Given the description of an element on the screen output the (x, y) to click on. 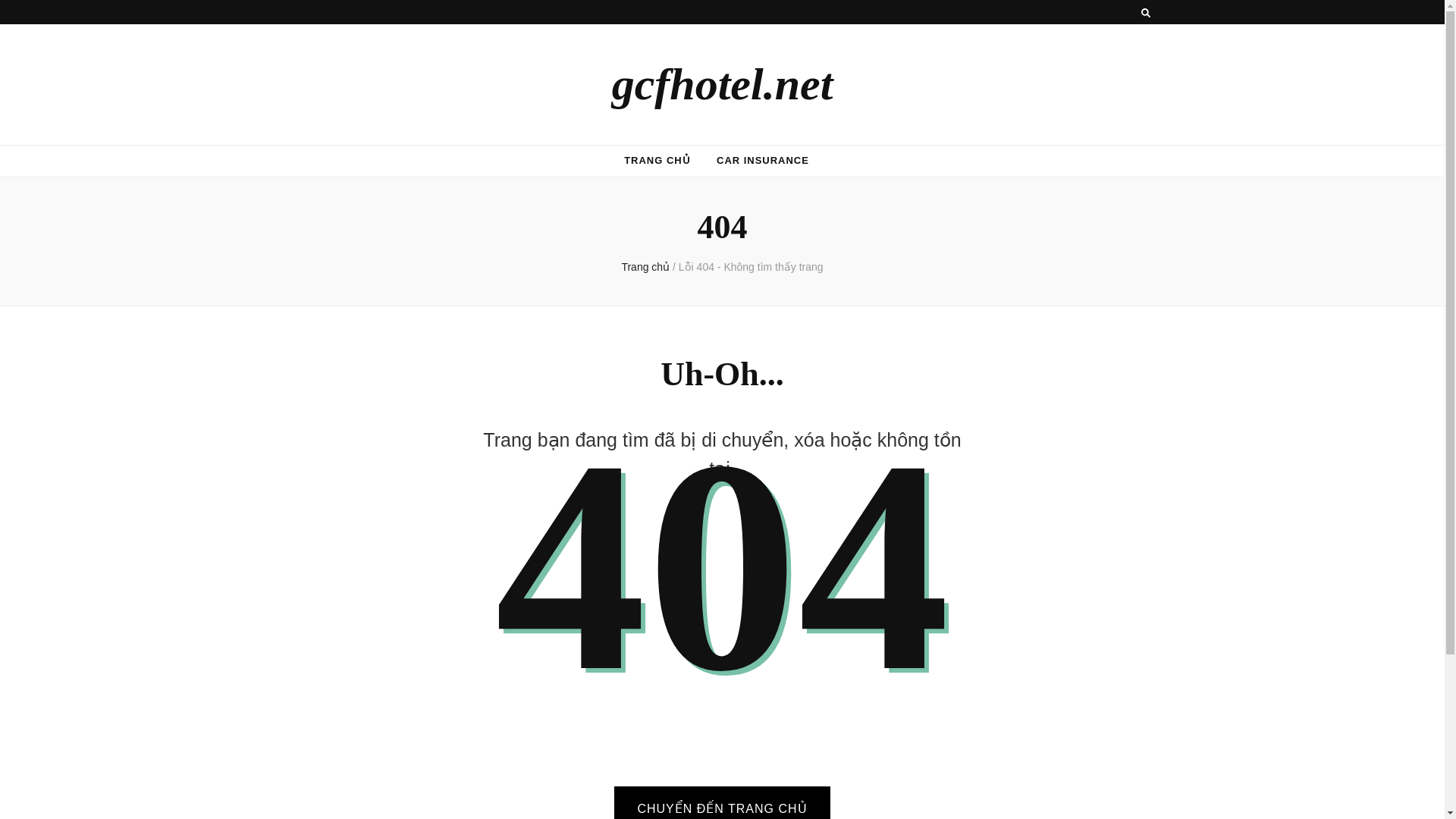
CAR INSURANCE (762, 160)
gcfhotel.net (721, 83)
